Given the description of an element on the screen output the (x, y) to click on. 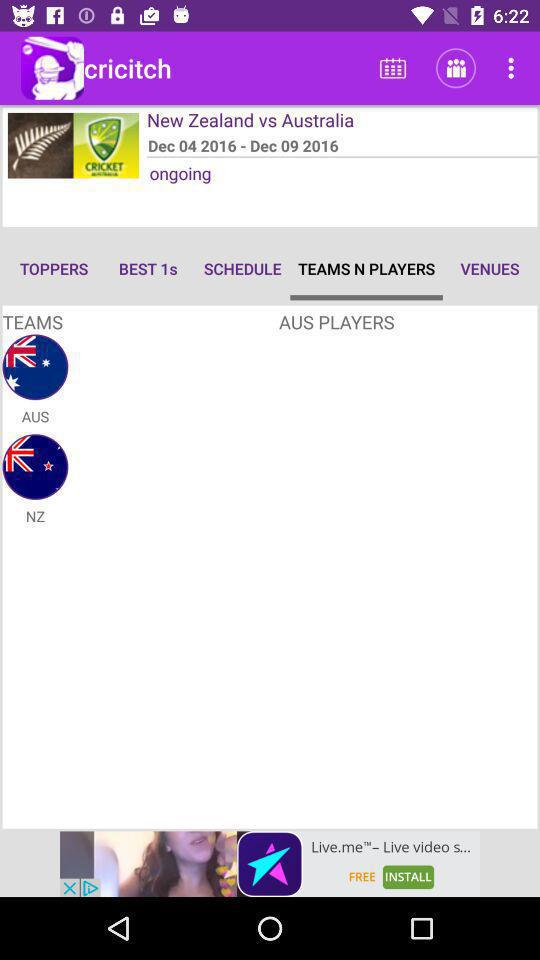
advertise banner (270, 864)
